Given the description of an element on the screen output the (x, y) to click on. 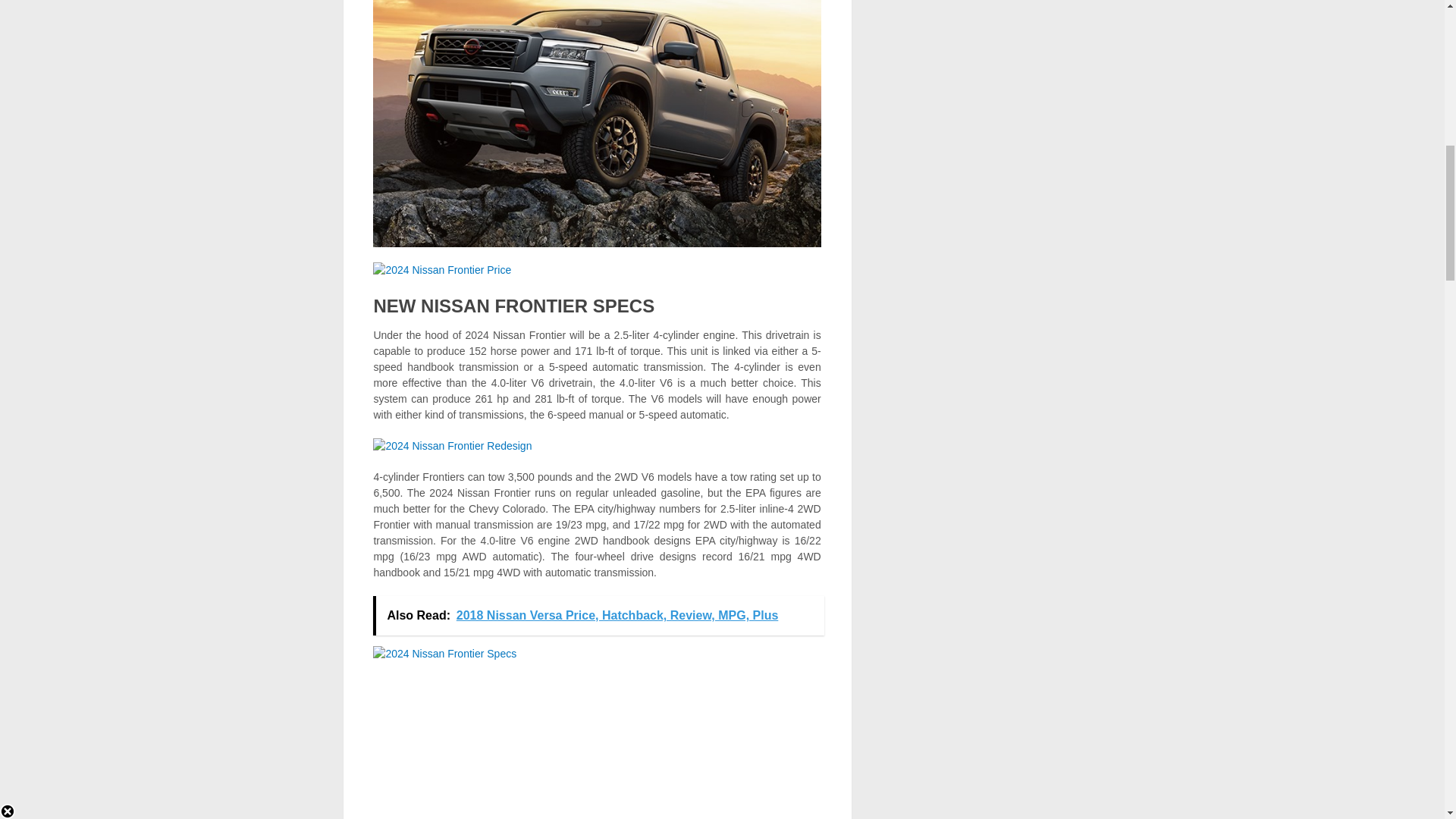
2024 Nissan Frontier Redesign (451, 445)
2024 Nissan Frontier Specs (444, 653)
2024 Nissan Frontier Price (441, 269)
